Given the description of an element on the screen output the (x, y) to click on. 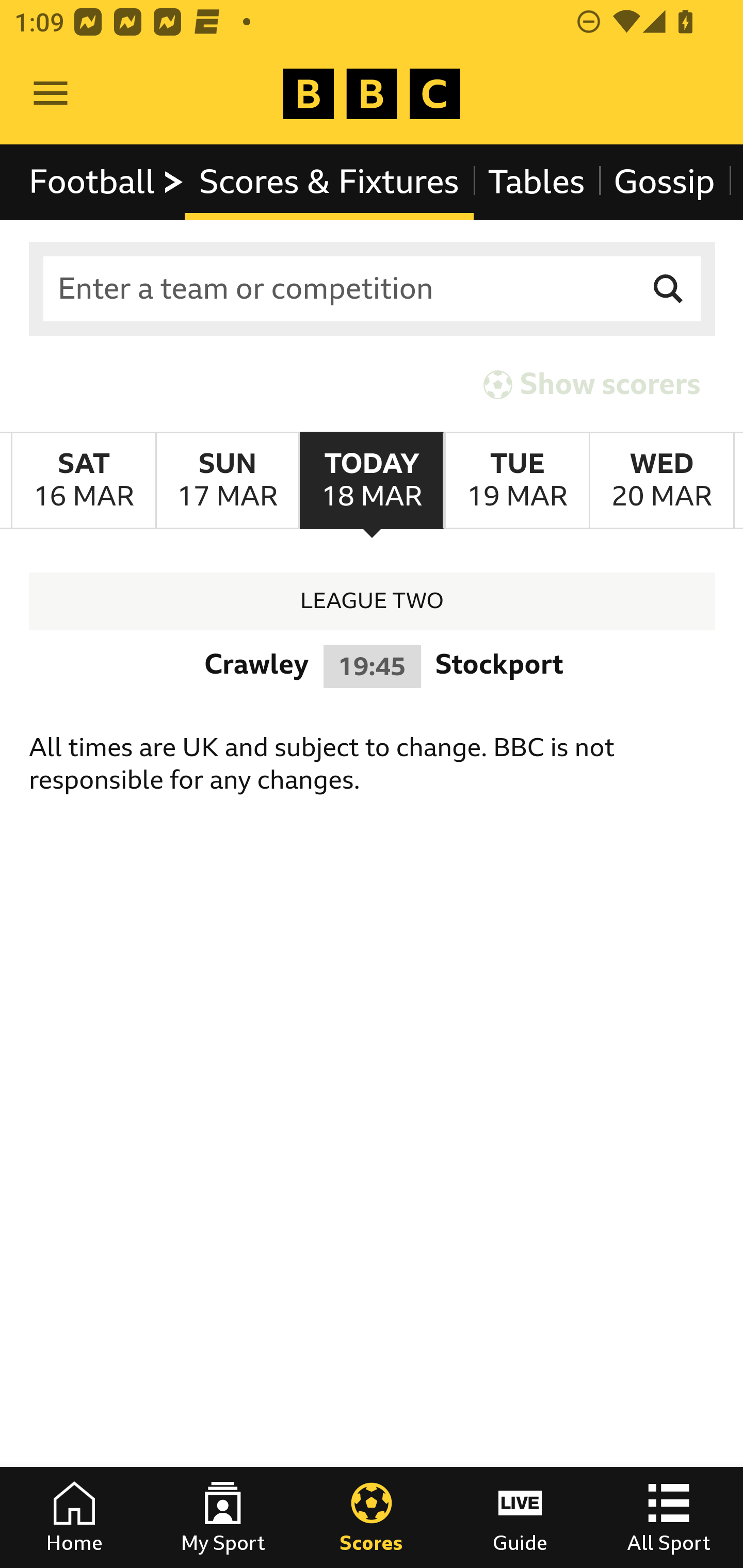
Open Menu (50, 93)
Football  (106, 181)
Scores & Fixtures (329, 181)
Tables (536, 181)
Gossip (664, 181)
Search (669, 289)
Show scorers (591, 383)
SaturdayMarch 16th Saturday March 16th (83, 480)
SundayMarch 17th Sunday March 17th (227, 480)
TuesdayMarch 19th Tuesday March 19th (516, 480)
WednesdayMarch 20th Wednesday March 20th (661, 480)
Home (74, 1517)
My Sport (222, 1517)
Guide (519, 1517)
All Sport (668, 1517)
